Given the description of an element on the screen output the (x, y) to click on. 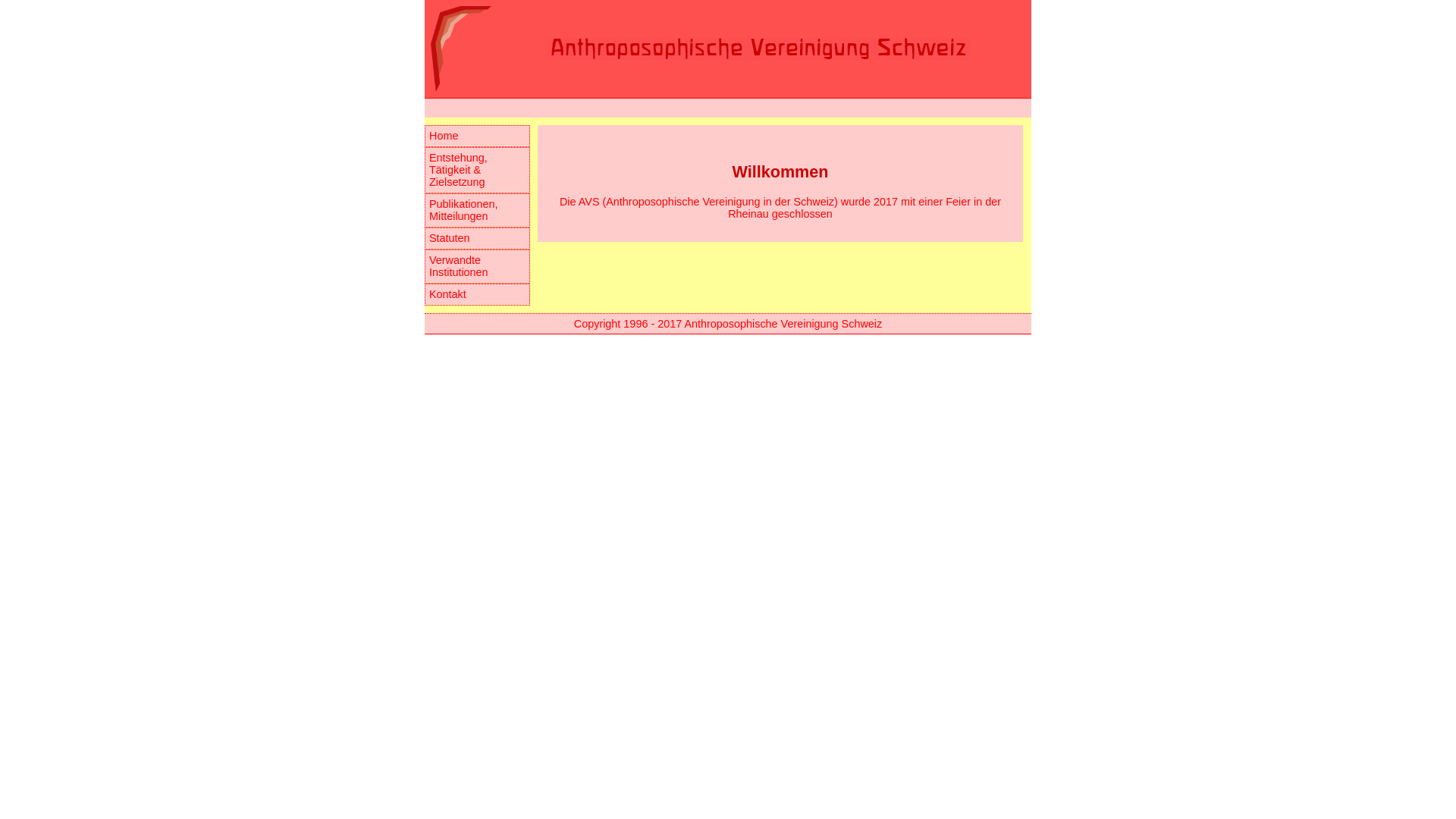
Verwandte Institutionen Element type: text (477, 266)
Publikationen, Mitteilungen Element type: text (477, 210)
Home Element type: text (477, 135)
Statuten Element type: text (477, 238)
Kontakt Element type: text (477, 294)
